Given the description of an element on the screen output the (x, y) to click on. 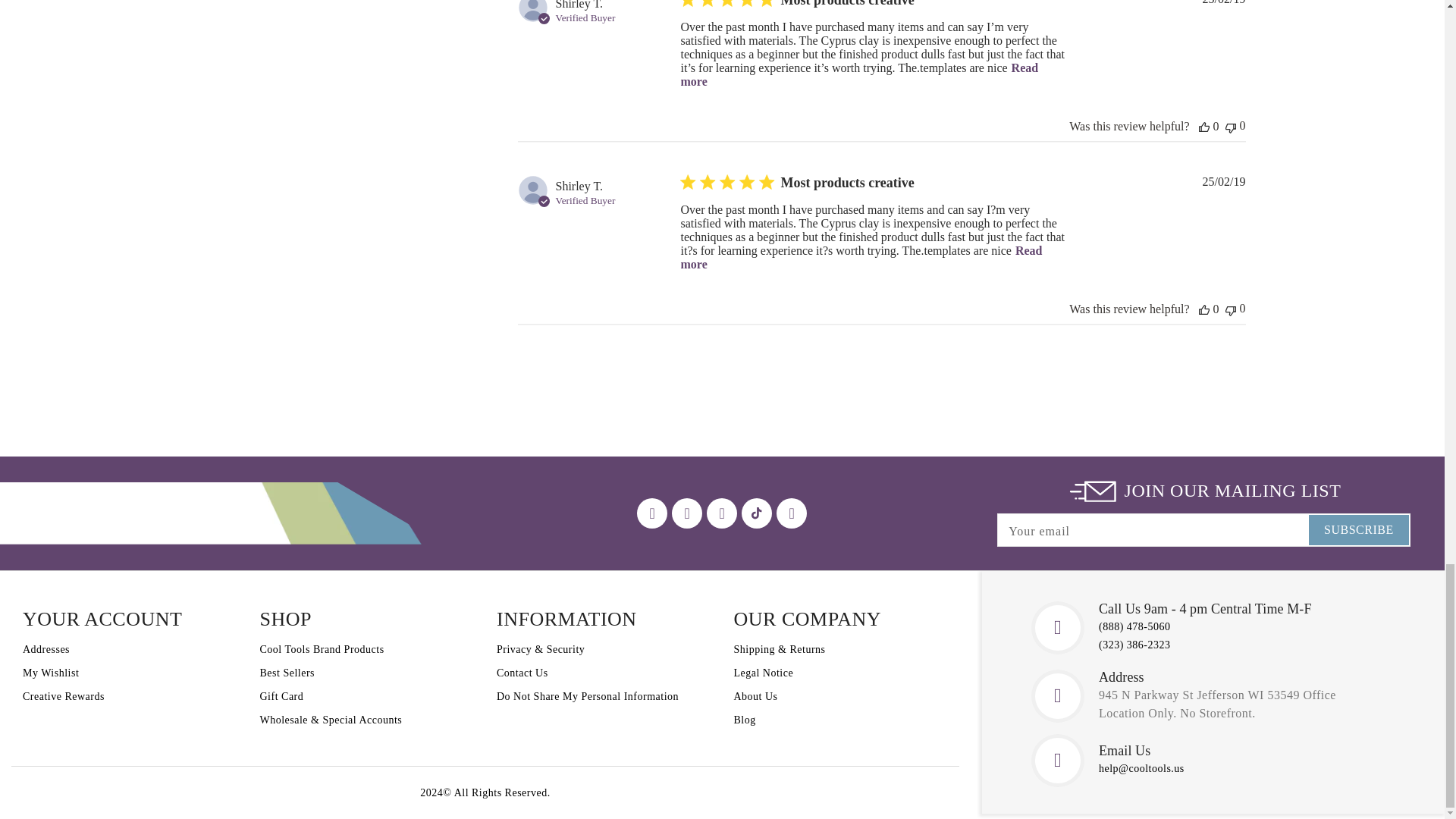
Shirley T. (578, 5)
Shirley T. (578, 186)
